Given the description of an element on the screen output the (x, y) to click on. 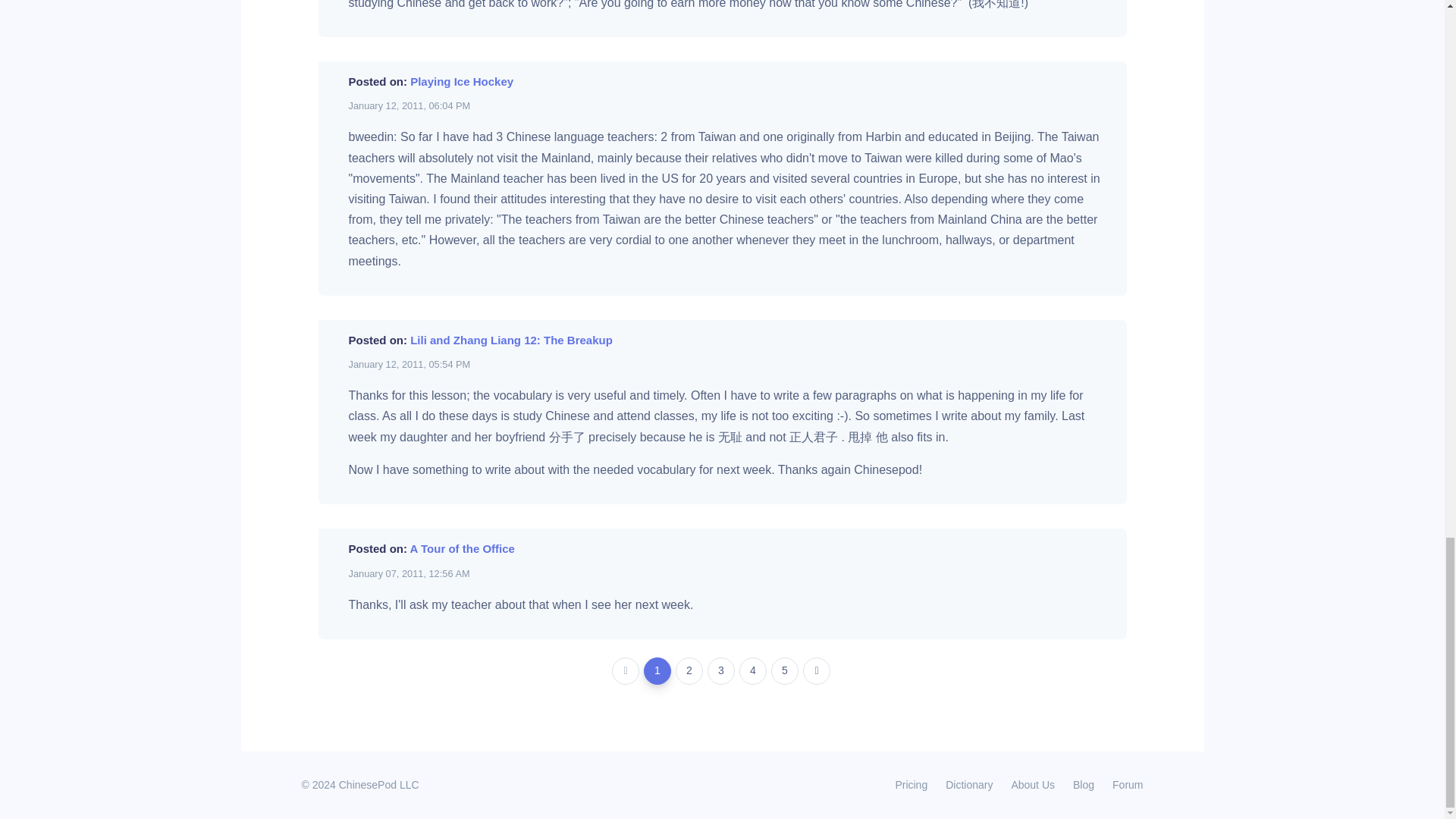
4 (753, 670)
Forum (1122, 784)
Blog (1083, 784)
2 (689, 670)
Lili and Zhang Liang 12: The Breakup (511, 339)
Playing Ice Hockey (461, 81)
About Us (1032, 784)
3 (721, 670)
A Tour of the Office (462, 548)
Pricing (910, 784)
1 (657, 670)
Dictionary (968, 784)
5 (784, 670)
